Given the description of an element on the screen output the (x, y) to click on. 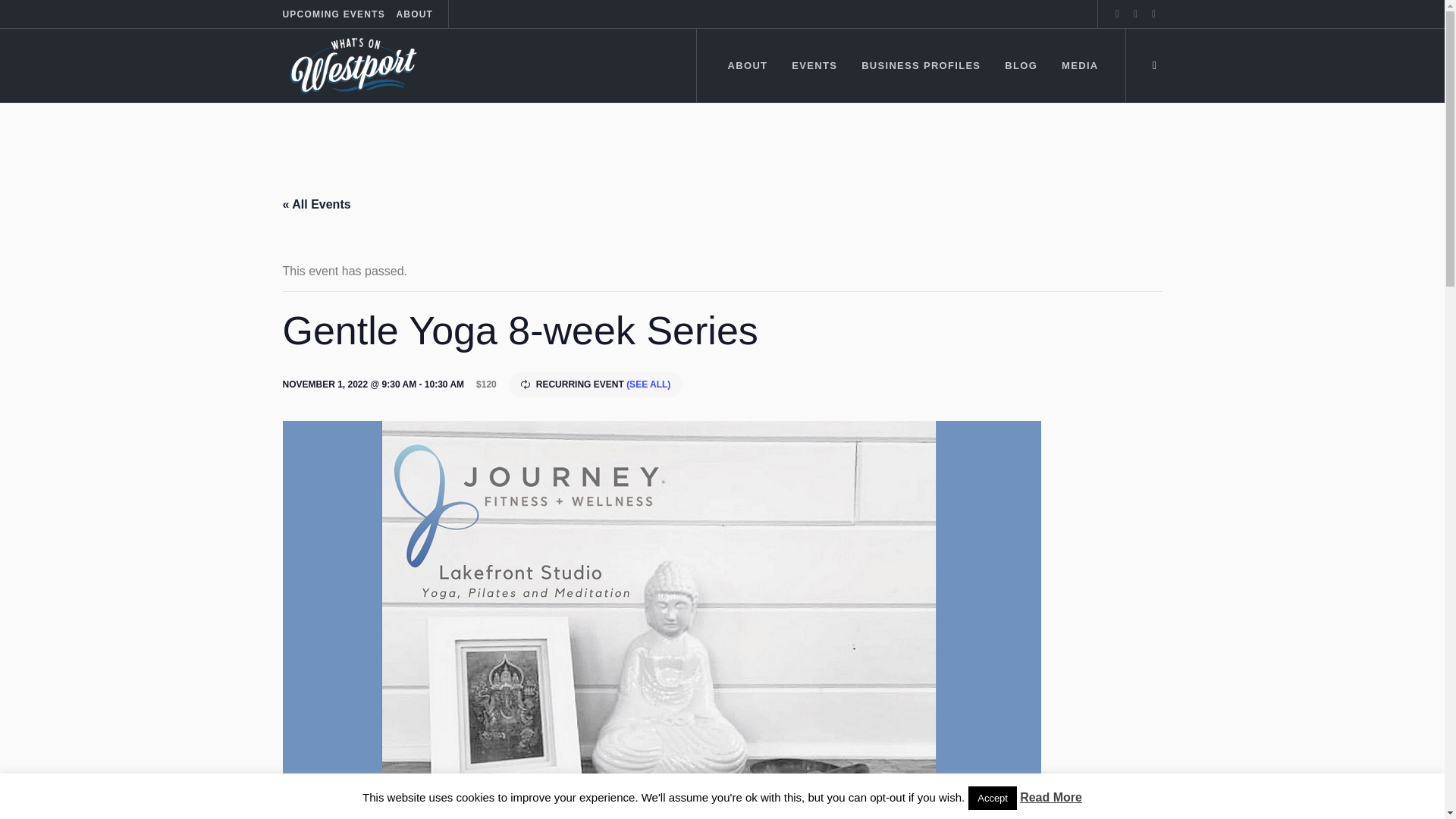
UPCOMING EVENTS (333, 14)
Instagram (1152, 13)
BUSINESS PROFILES (919, 65)
EVENTS (813, 65)
ABOUT (414, 14)
Twitter (1134, 13)
Facebook (1116, 13)
